Given the description of an element on the screen output the (x, y) to click on. 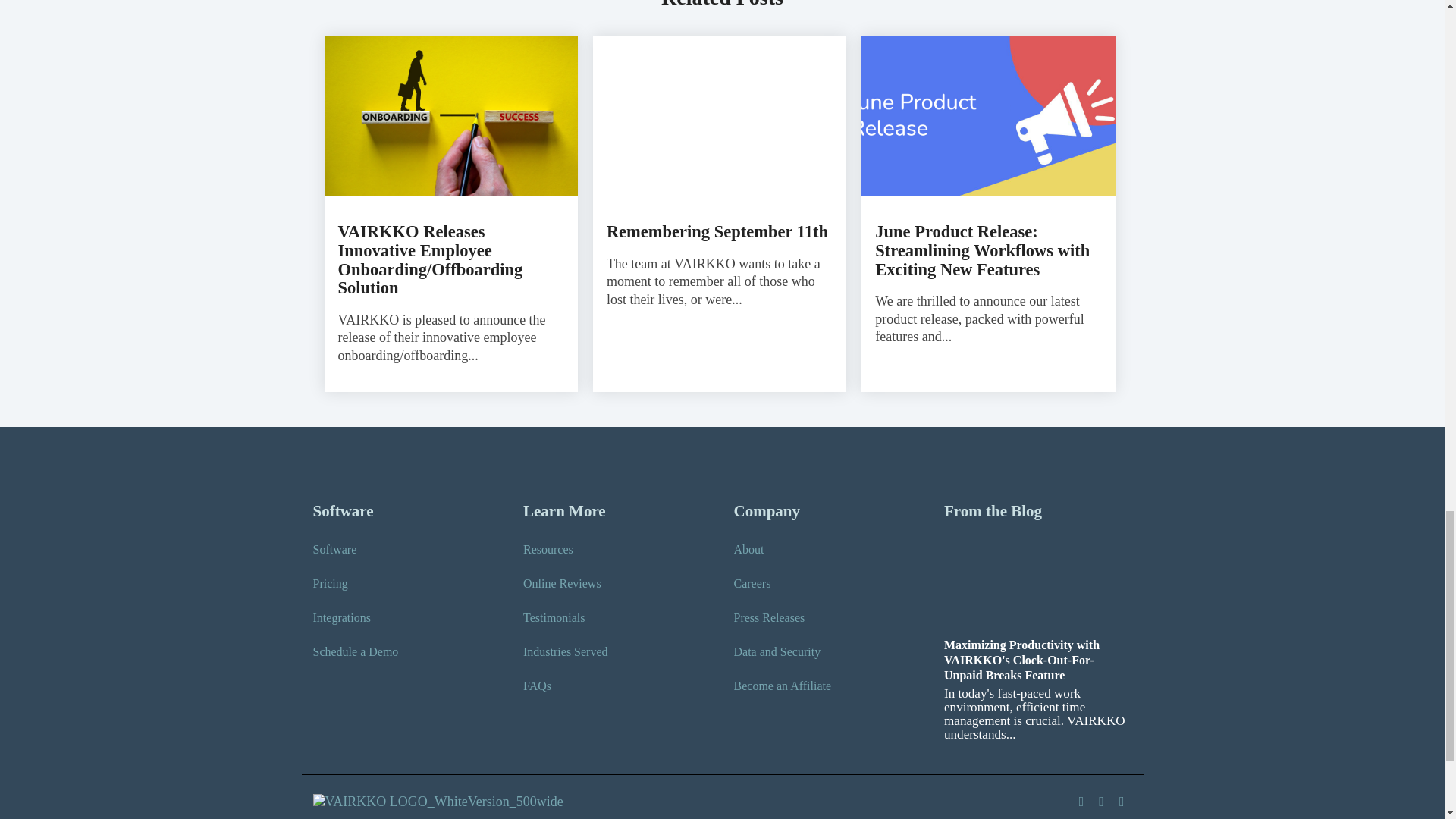
Press Releases (769, 617)
Careers (752, 583)
Become an Affiliate (782, 685)
FAQs (536, 685)
Schedule a Demo (355, 651)
Privacy Policy (348, 818)
Software (334, 548)
About (748, 548)
Resources (547, 548)
